Given the description of an element on the screen output the (x, y) to click on. 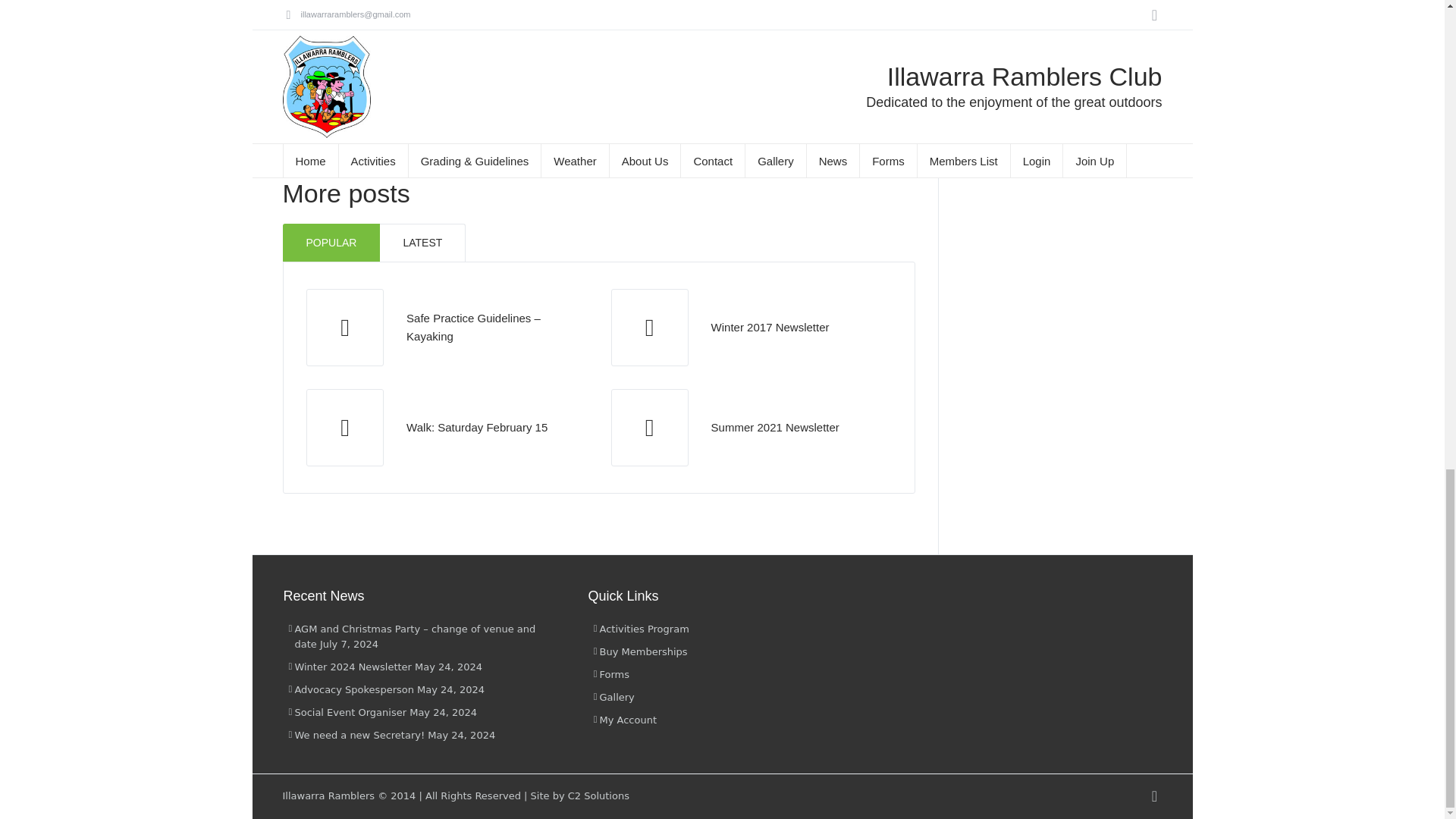
Email (420, 104)
POPULAR (331, 242)
Winter 2017 Newsletter (649, 327)
Walk: Saturday February 15 (344, 427)
Winter 2017 Newsletter (770, 327)
Winter 2017 Newsletter (770, 327)
LATEST (422, 242)
Summer 2021 Newsletter (649, 427)
Walk: Saturday February 15 (476, 427)
Summer 2021 Newsletter (775, 427)
